Given the description of an element on the screen output the (x, y) to click on. 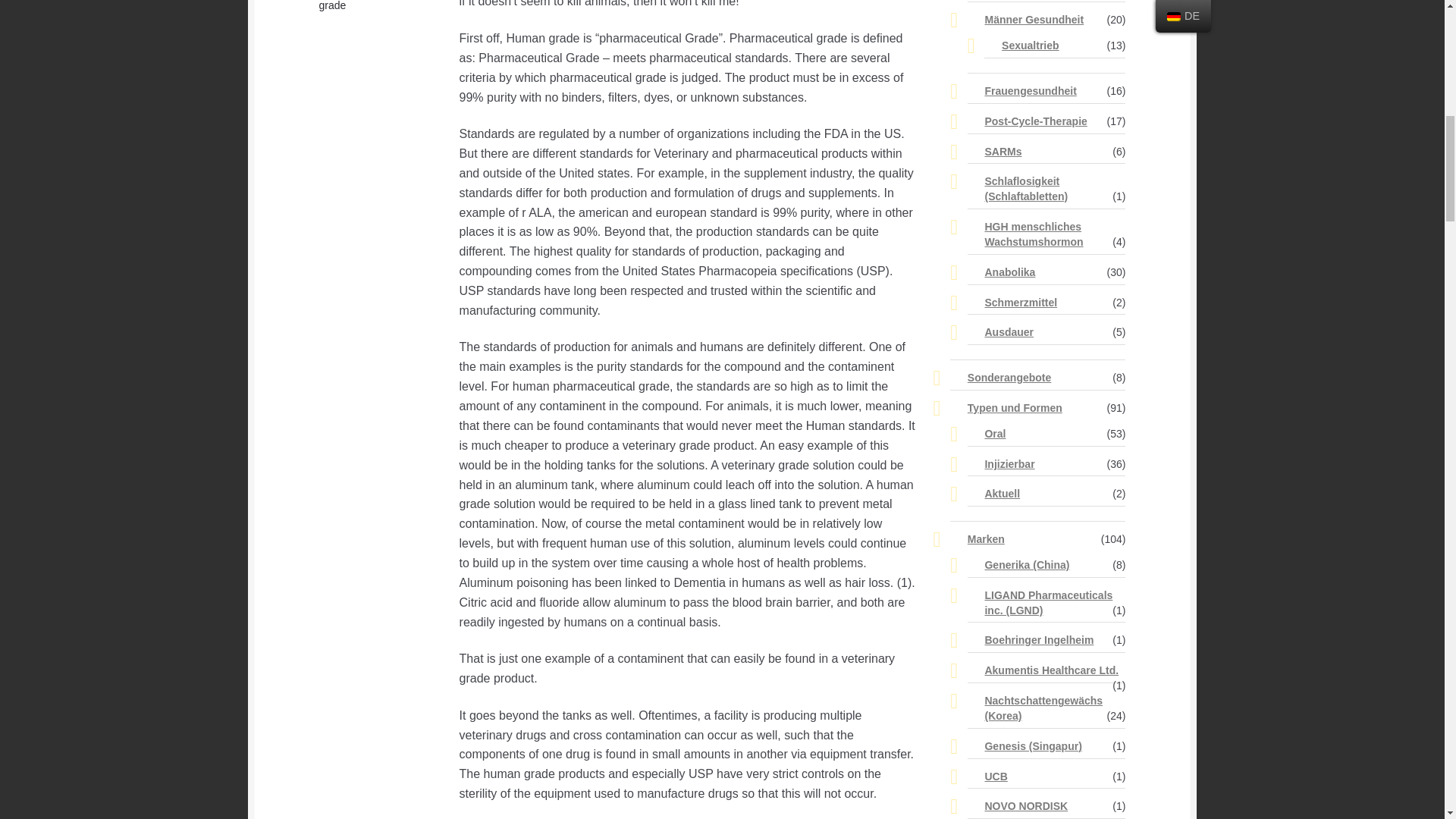
veterinary grade (358, 6)
